Given the description of an element on the screen output the (x, y) to click on. 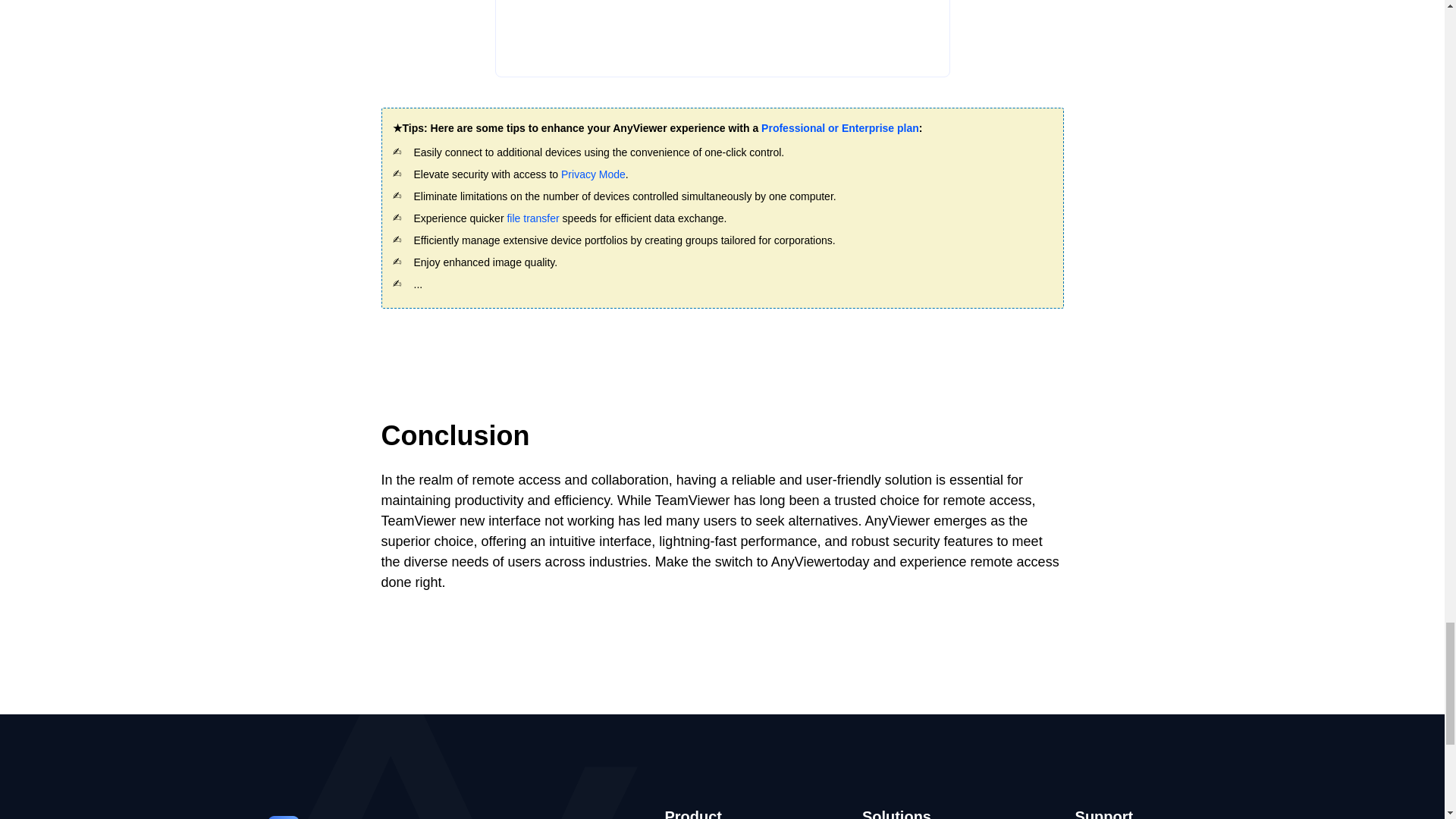
Professional Or Enterprise Plan (839, 127)
Privacy Mode (593, 174)
File Transfer (532, 218)
